Given the description of an element on the screen output the (x, y) to click on. 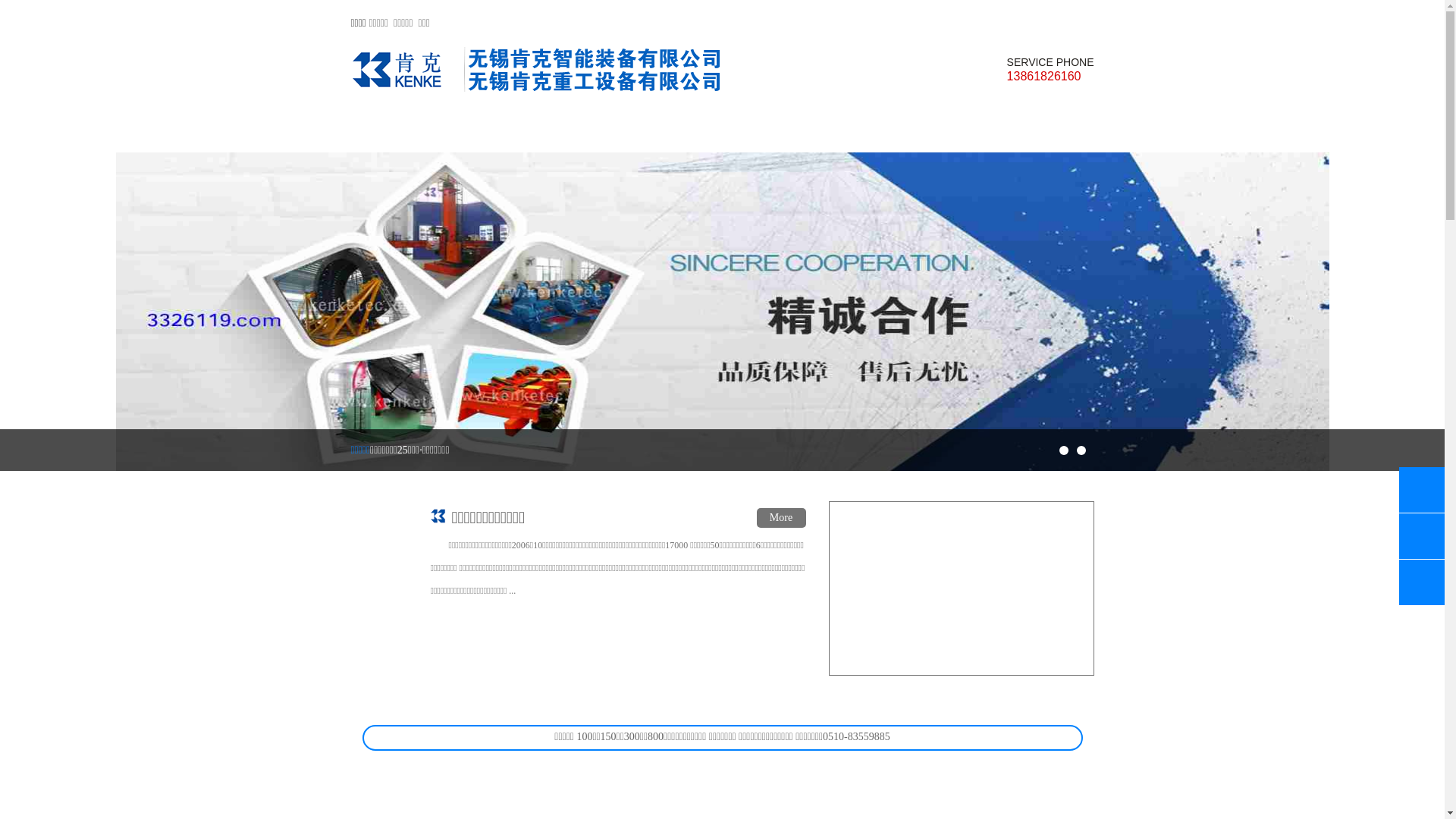
More Element type: text (781, 517)
